Given the description of an element on the screen output the (x, y) to click on. 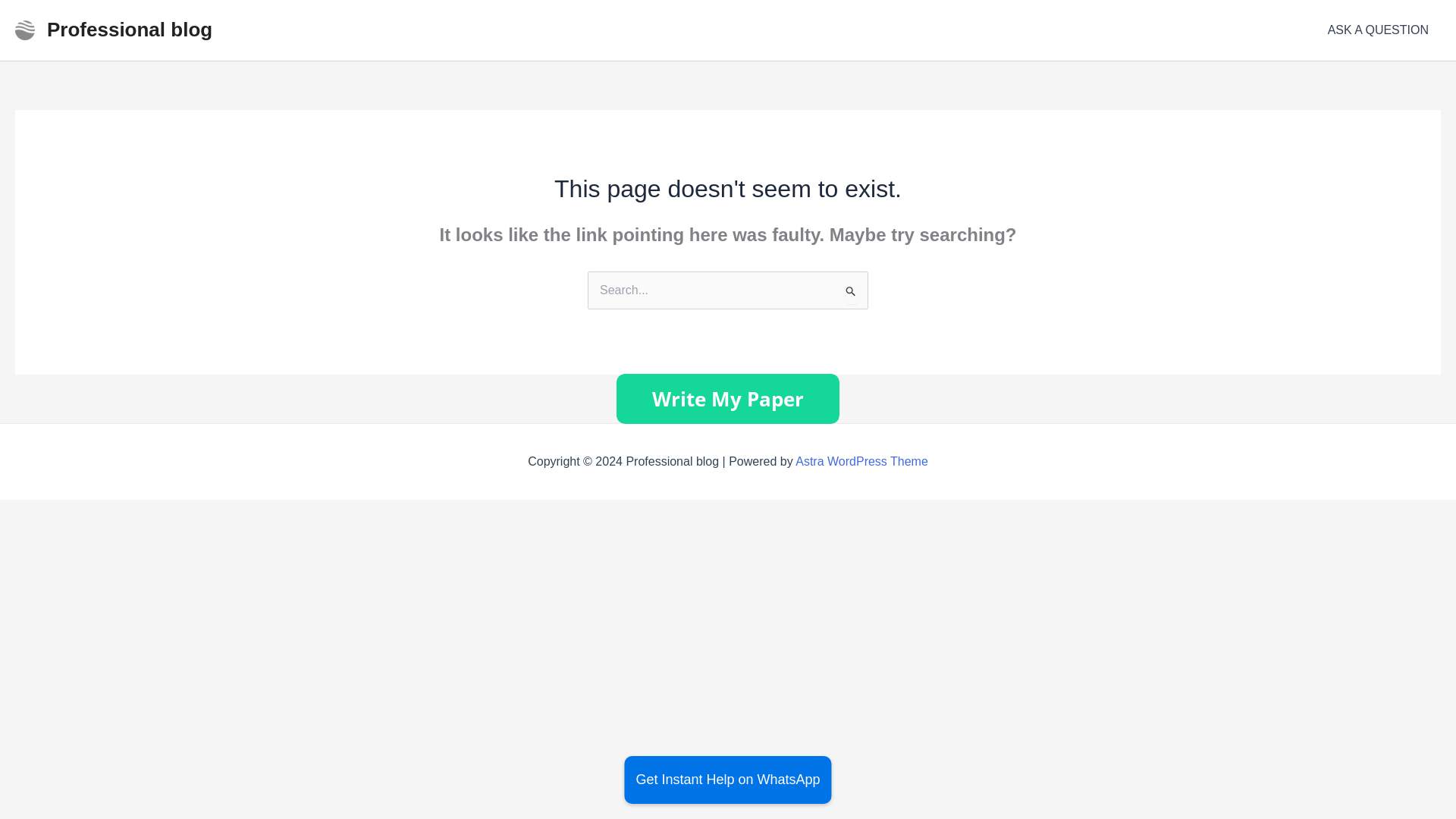
Astra WordPress Theme (861, 461)
Get Instant Help on WhatsApp (727, 779)
ASK A QUESTION (1378, 30)
Professional blog (129, 29)
